Given the description of an element on the screen output the (x, y) to click on. 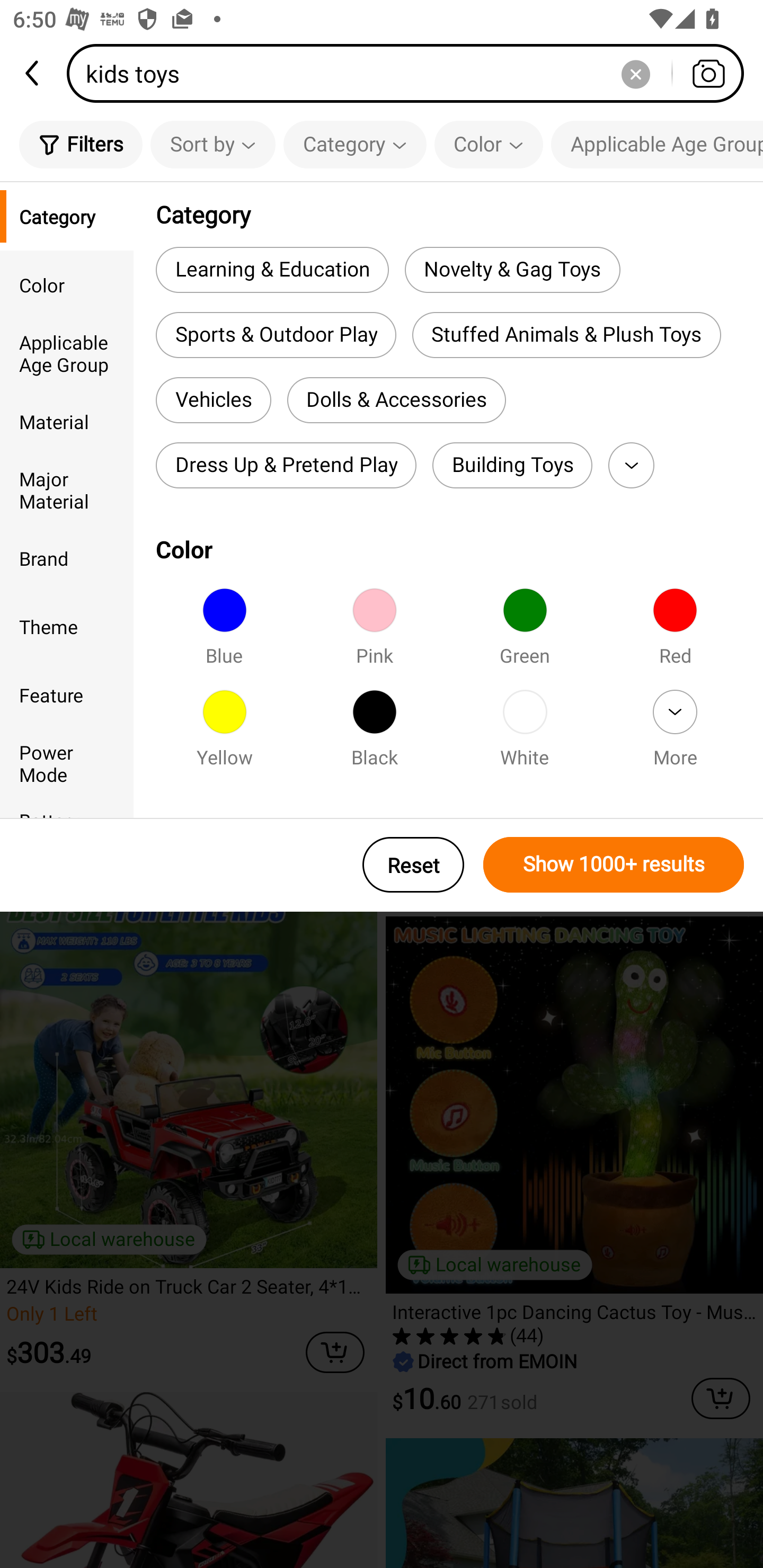
back (33, 72)
kids toys (411, 73)
Delete search history (635, 73)
Search by photo (708, 73)
Filters (80, 143)
Sort by (212, 143)
Category (354, 143)
Color (488, 143)
Applicable Age Group (656, 143)
Category (66, 215)
 Free shipping (93, 208)
Learning & Education (272, 269)
Novelty & Gag Toys (512, 269)
Deals (73, 273)
Sports & Outdoor Play (275, 334)
Stuffed Animals & Plush Toys (566, 334)
Applicable Age Group (66, 352)
Vehicles (213, 400)
Dolls & Accessories (395, 400)
Material (66, 421)
Dress Up & Pretend Play (285, 464)
Building Toys (512, 464)
More (631, 464)
Major Material (66, 489)
Brand (66, 557)
Theme (66, 626)
Feature (66, 694)
More (674, 734)
Power Mode (66, 762)
Reset (412, 864)
